Given the description of an element on the screen output the (x, y) to click on. 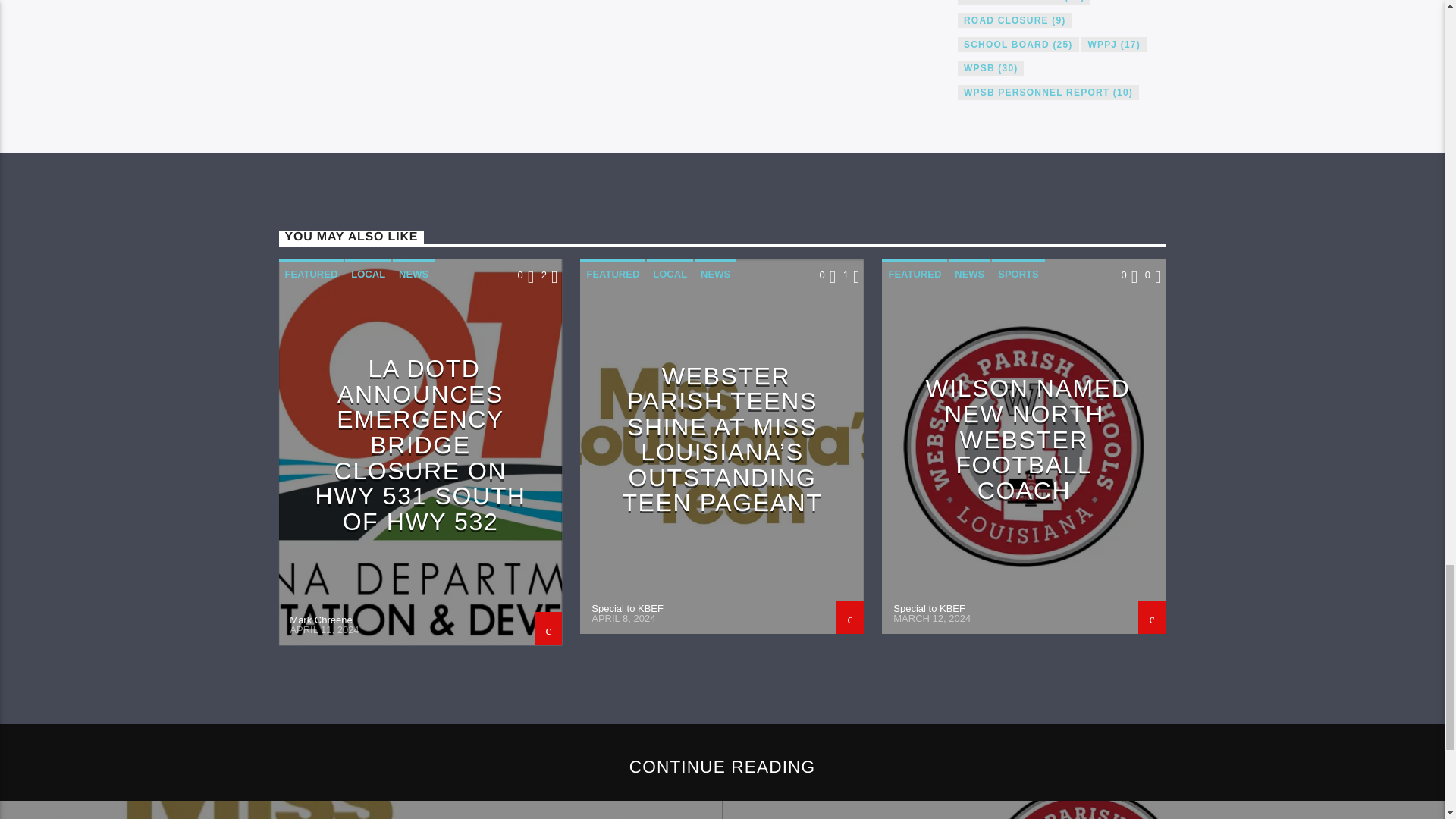
Posts by Special to KBEF (627, 608)
Posts by Special to KBEF (929, 608)
Posts by Mark Chreene (320, 619)
